Given the description of an element on the screen output the (x, y) to click on. 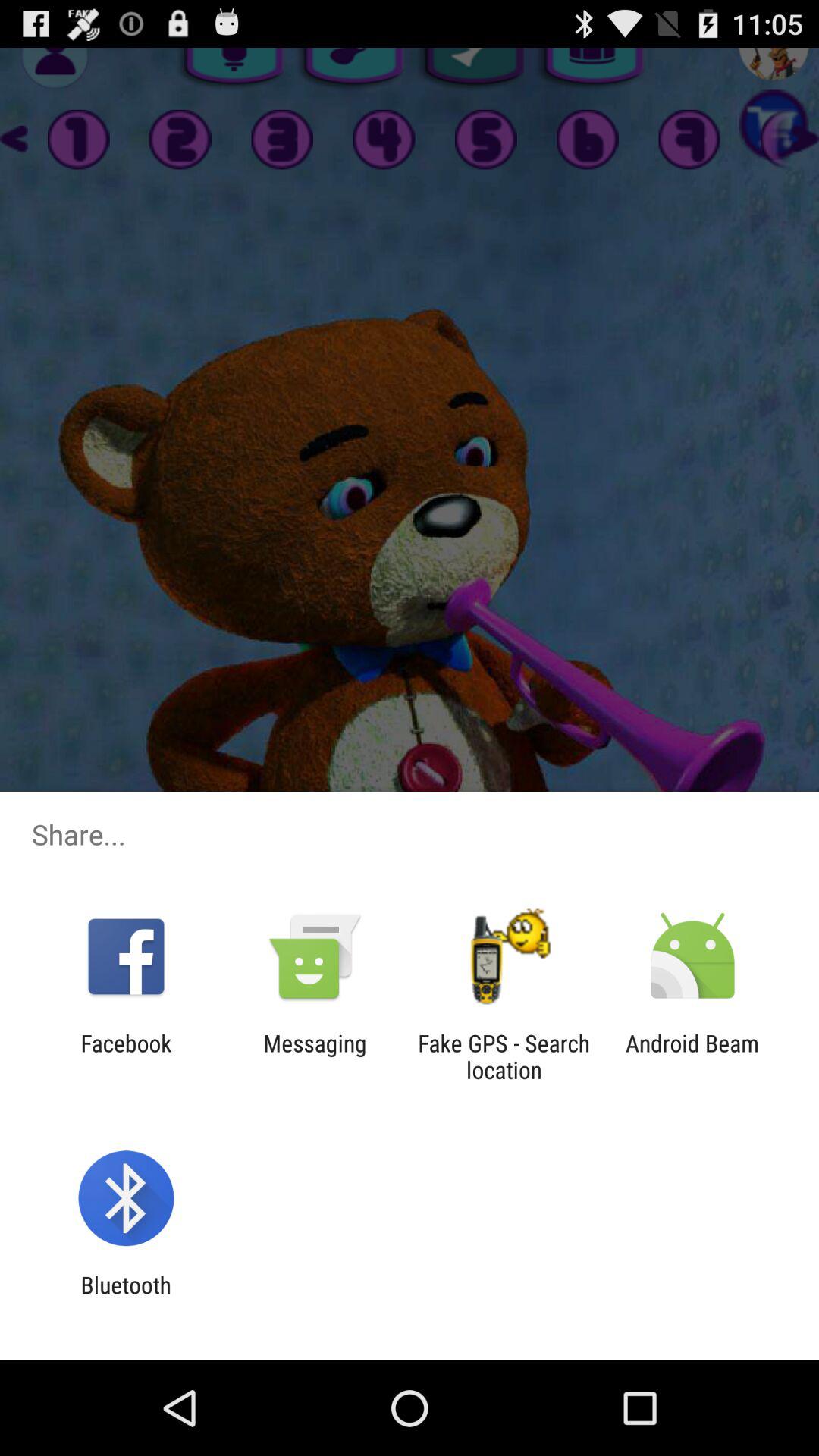
turn on the app to the left of the fake gps search (314, 1056)
